Given the description of an element on the screen output the (x, y) to click on. 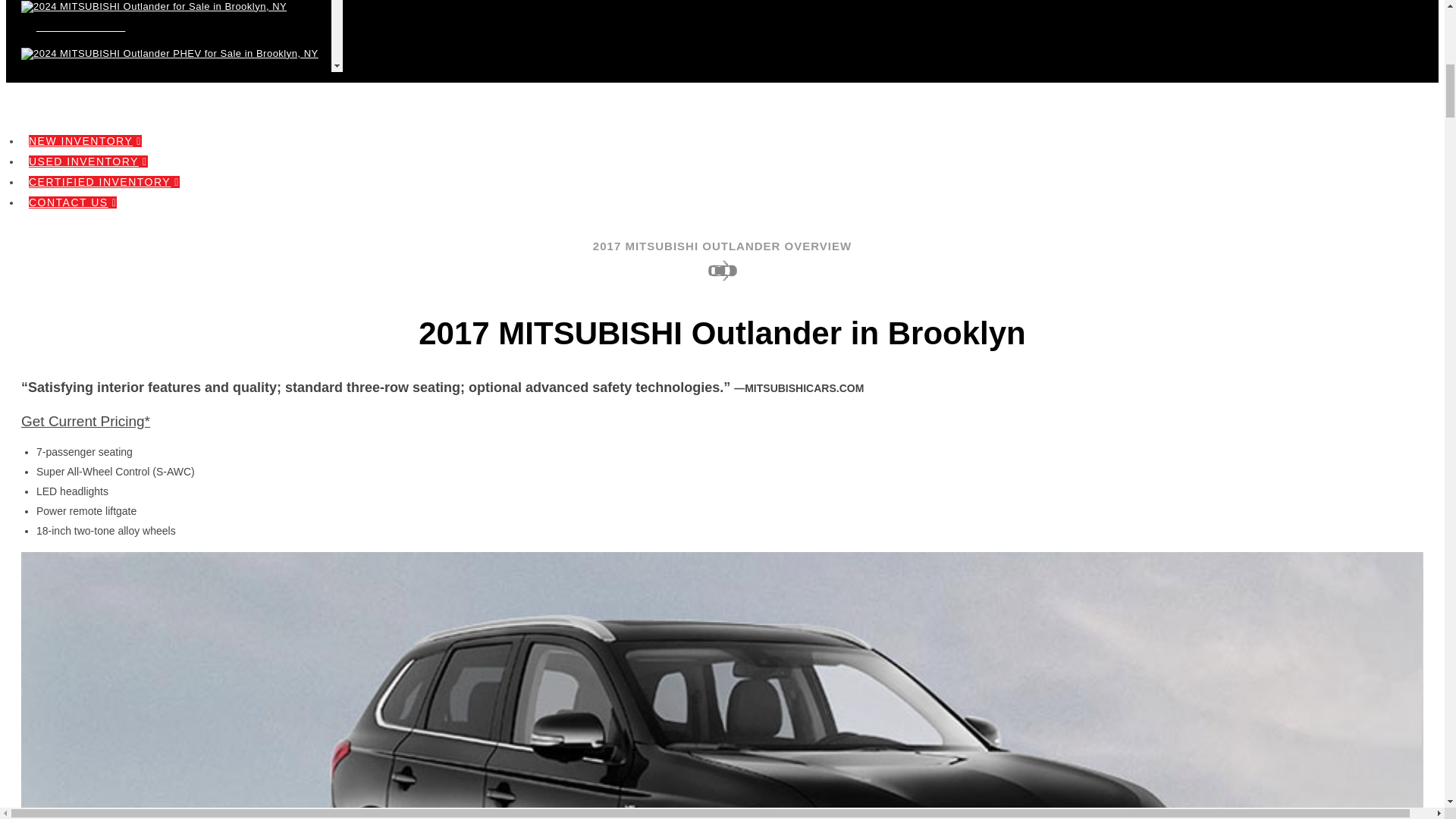
2022 Mirage G4 (172, 486)
2023 Mirage G4 (172, 204)
2022 Eclipse Cross (172, 533)
2024 Outlander (172, 16)
2021 Mirage (172, 721)
2023 Outlander PHEV (172, 392)
2021 Outlander Sport (172, 809)
2024 Outlander Sport (172, 110)
2023 Outlander Sport (172, 345)
2022 Outlander PHEV (172, 675)
